Given the description of an element on the screen output the (x, y) to click on. 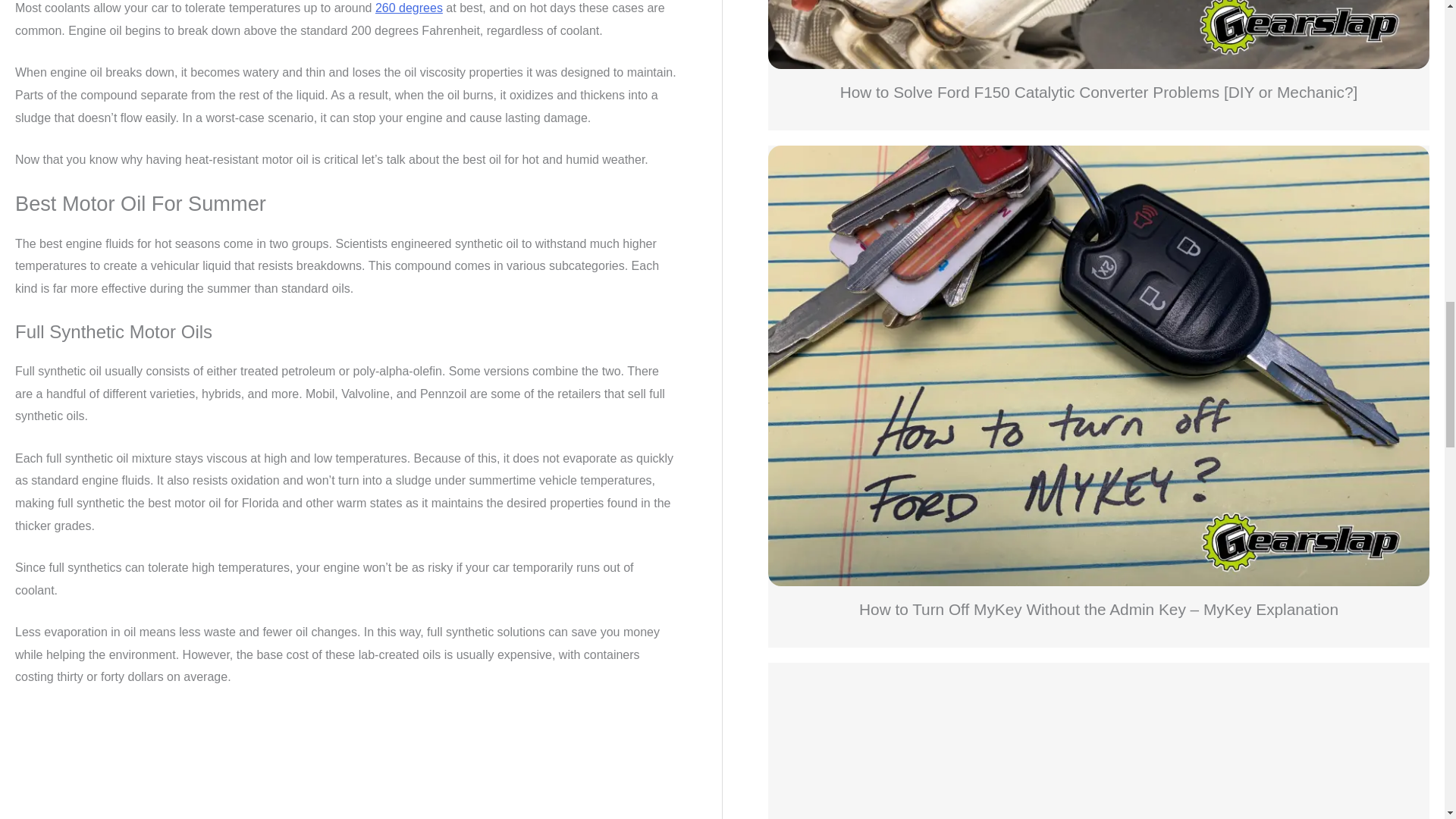
260 degrees (408, 7)
